Given the description of an element on the screen output the (x, y) to click on. 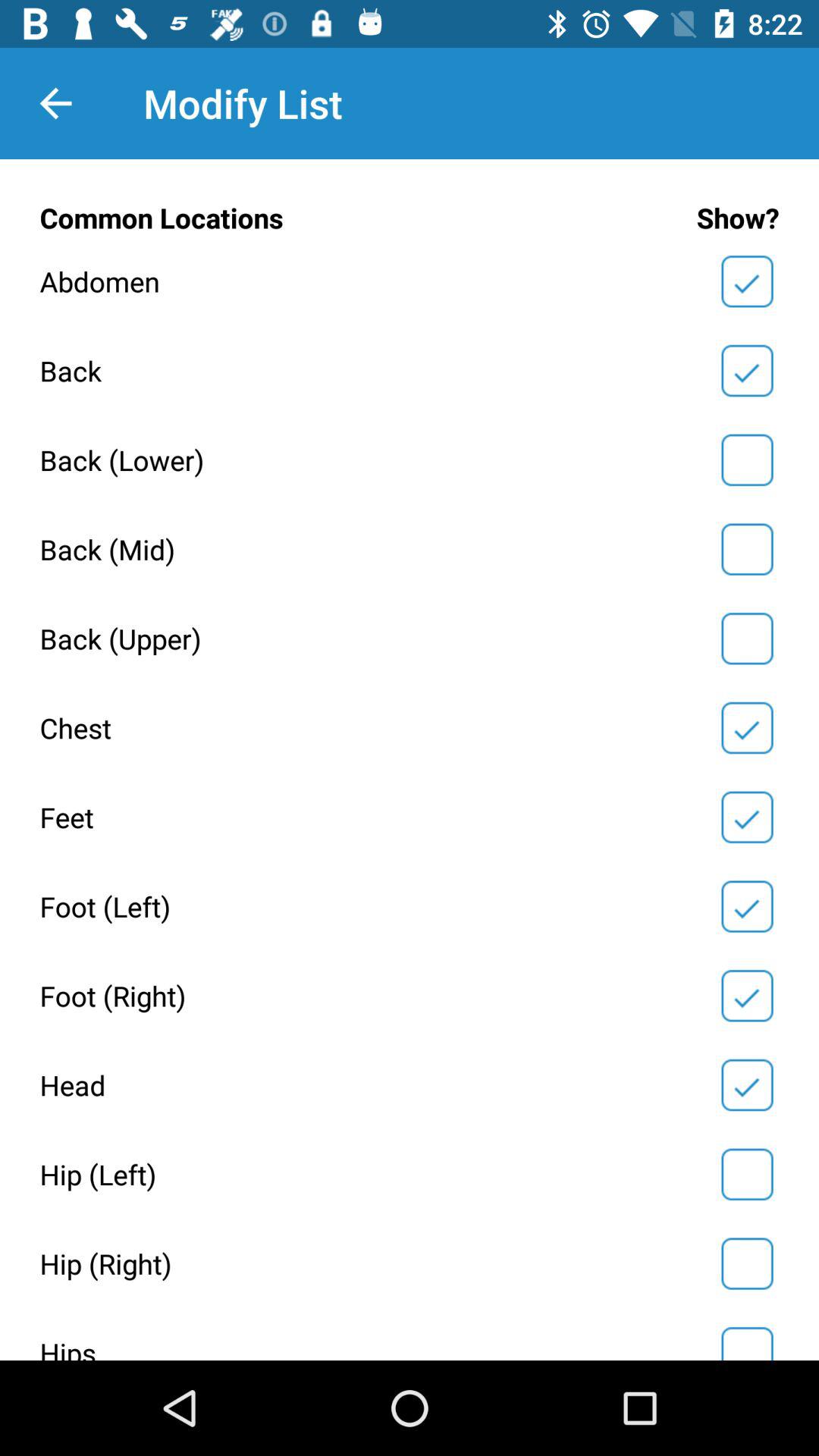
uncheck head (747, 1085)
